Given the description of an element on the screen output the (x, y) to click on. 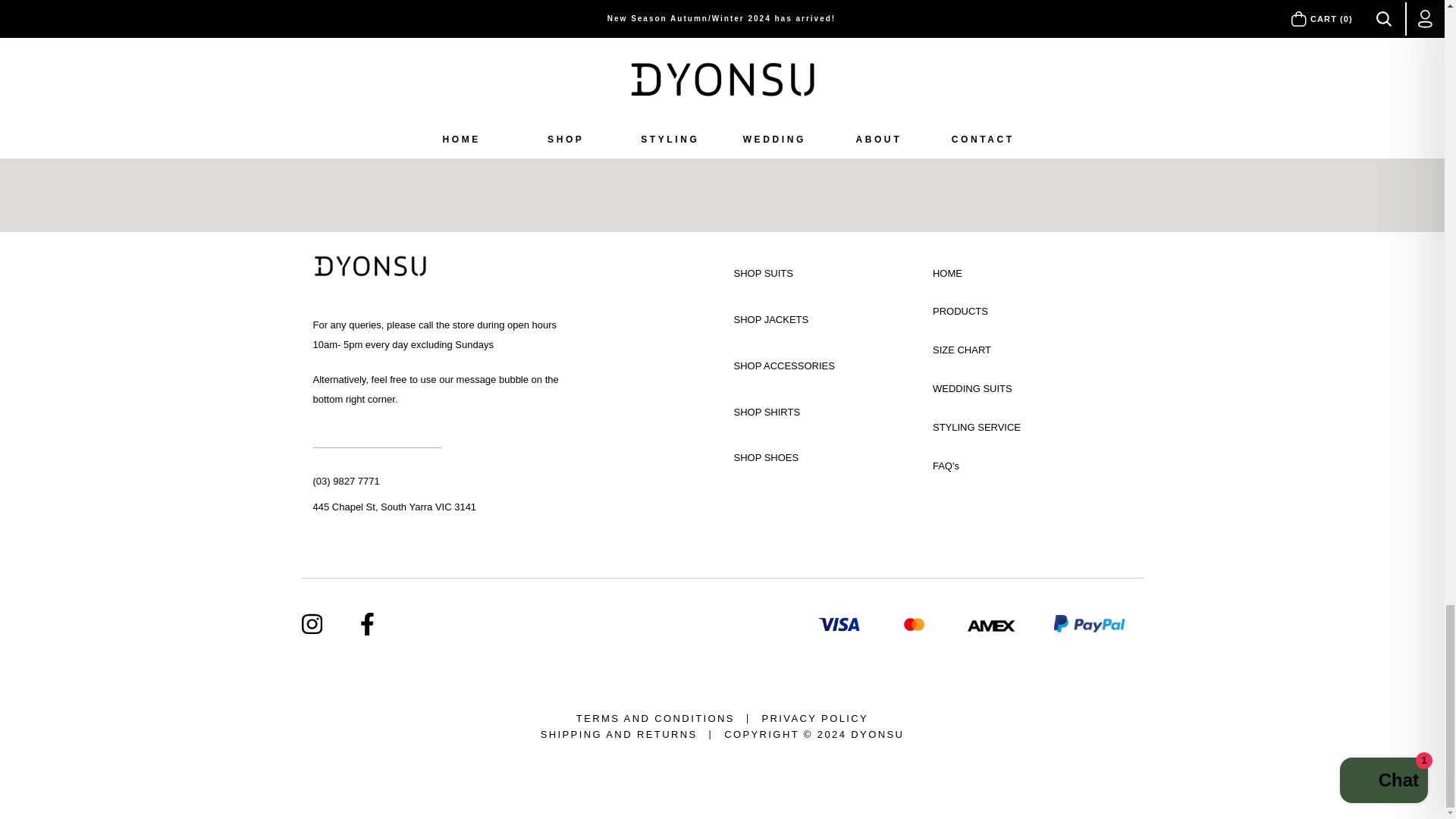
SIGN UP (936, 136)
SHIPPING AND RETURNS (618, 734)
SHOP ACCESSORIES (816, 370)
PRODUCTS (1032, 311)
TERMS AND CONDITIONS (655, 719)
FAQ's (1032, 466)
SHOP SUITS (816, 277)
WEDDING SUITS (1032, 389)
PRIVACY POLICY (814, 719)
HOME (1032, 273)
STYLING SERVICE (1032, 427)
SIZE CHART (1032, 350)
SHOP SHIRTS (816, 416)
SHOP SHOES (816, 461)
445 Chapel St, South Yarra VIC 3141 (441, 506)
